Given the description of an element on the screen output the (x, y) to click on. 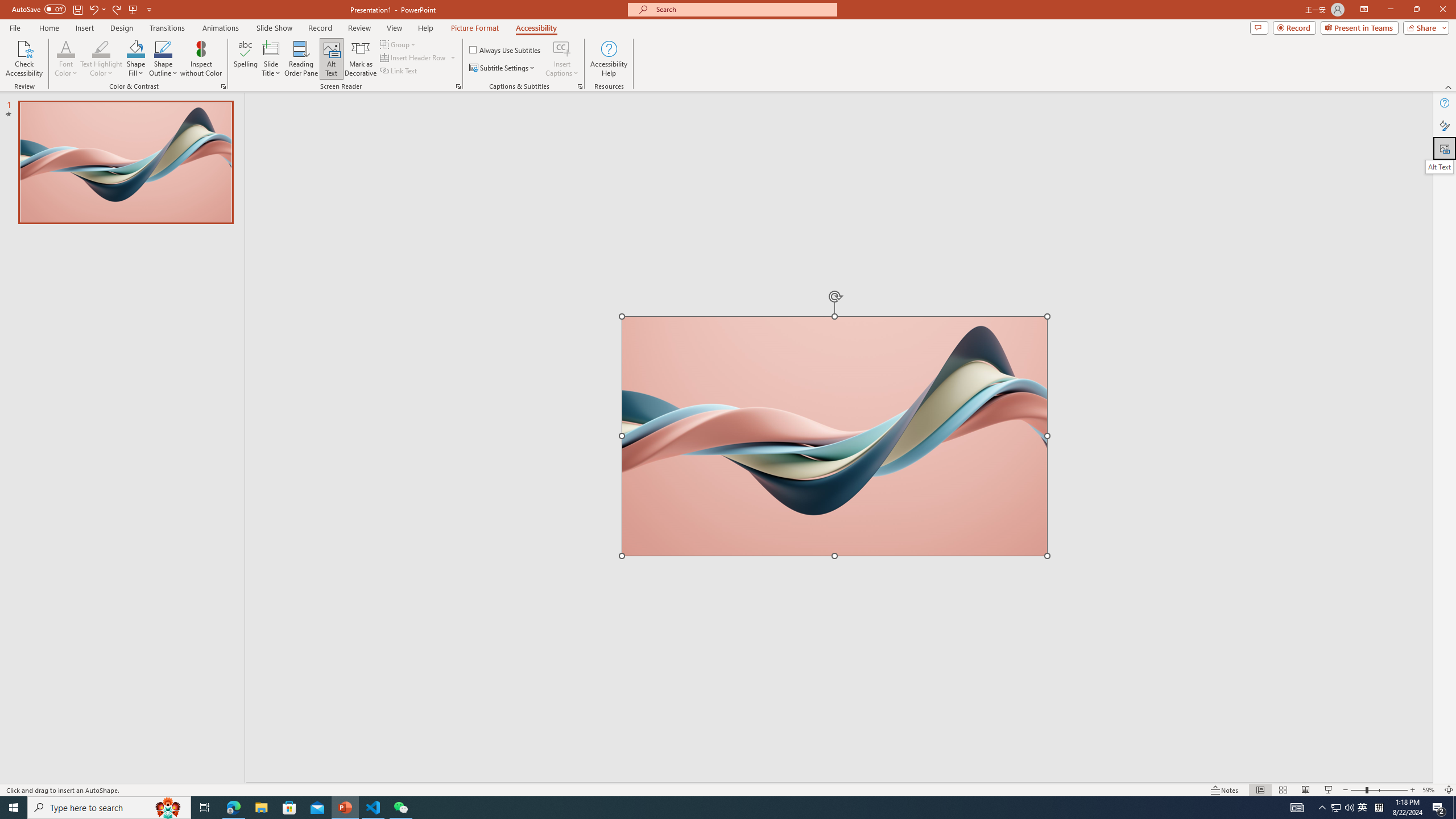
Accessibility Help (608, 58)
Captions & Subtitles (580, 85)
Picture Format (475, 28)
